Given the description of an element on the screen output the (x, y) to click on. 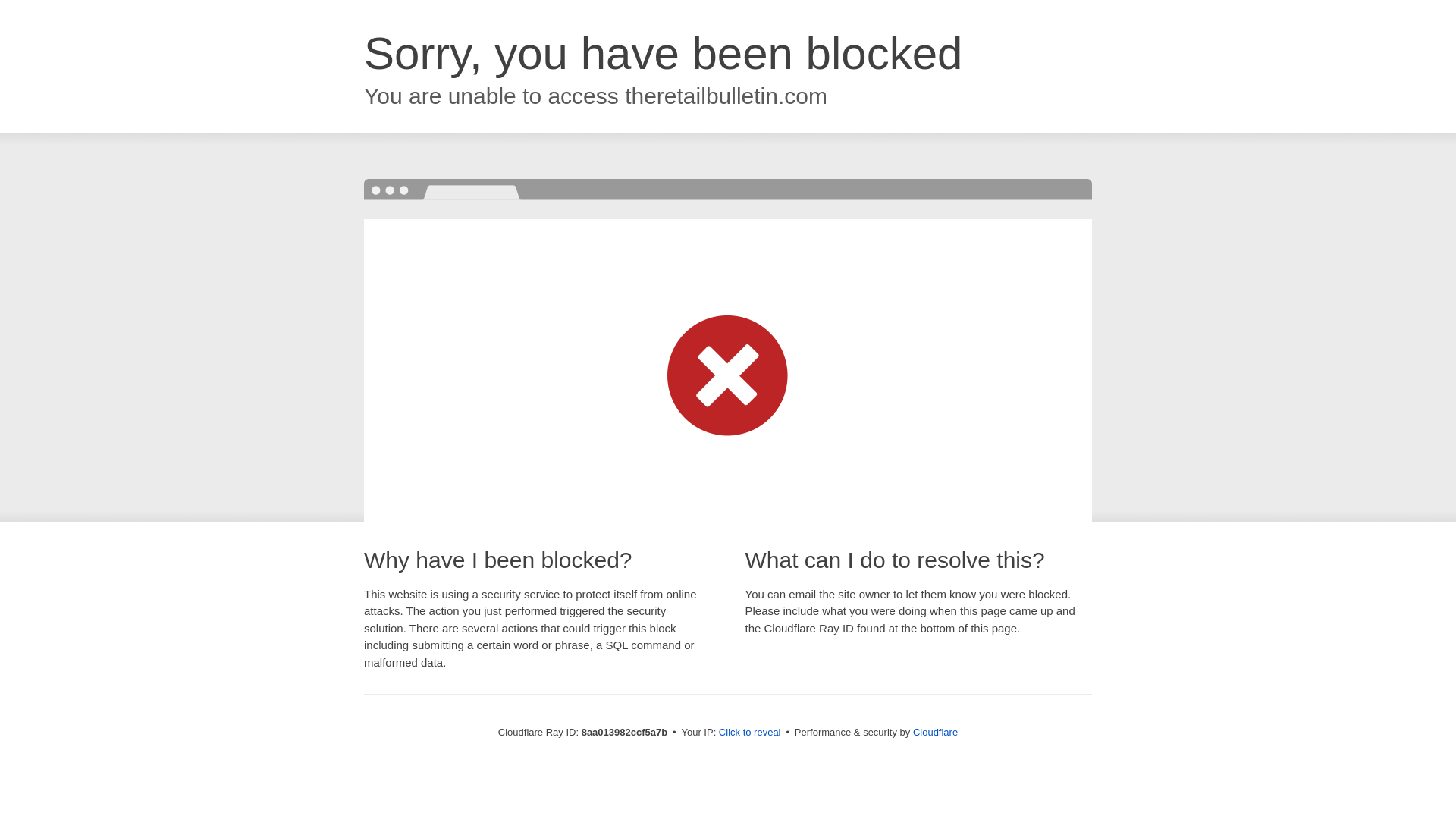
Cloudflare (935, 731)
Click to reveal (749, 732)
